Given the description of an element on the screen output the (x, y) to click on. 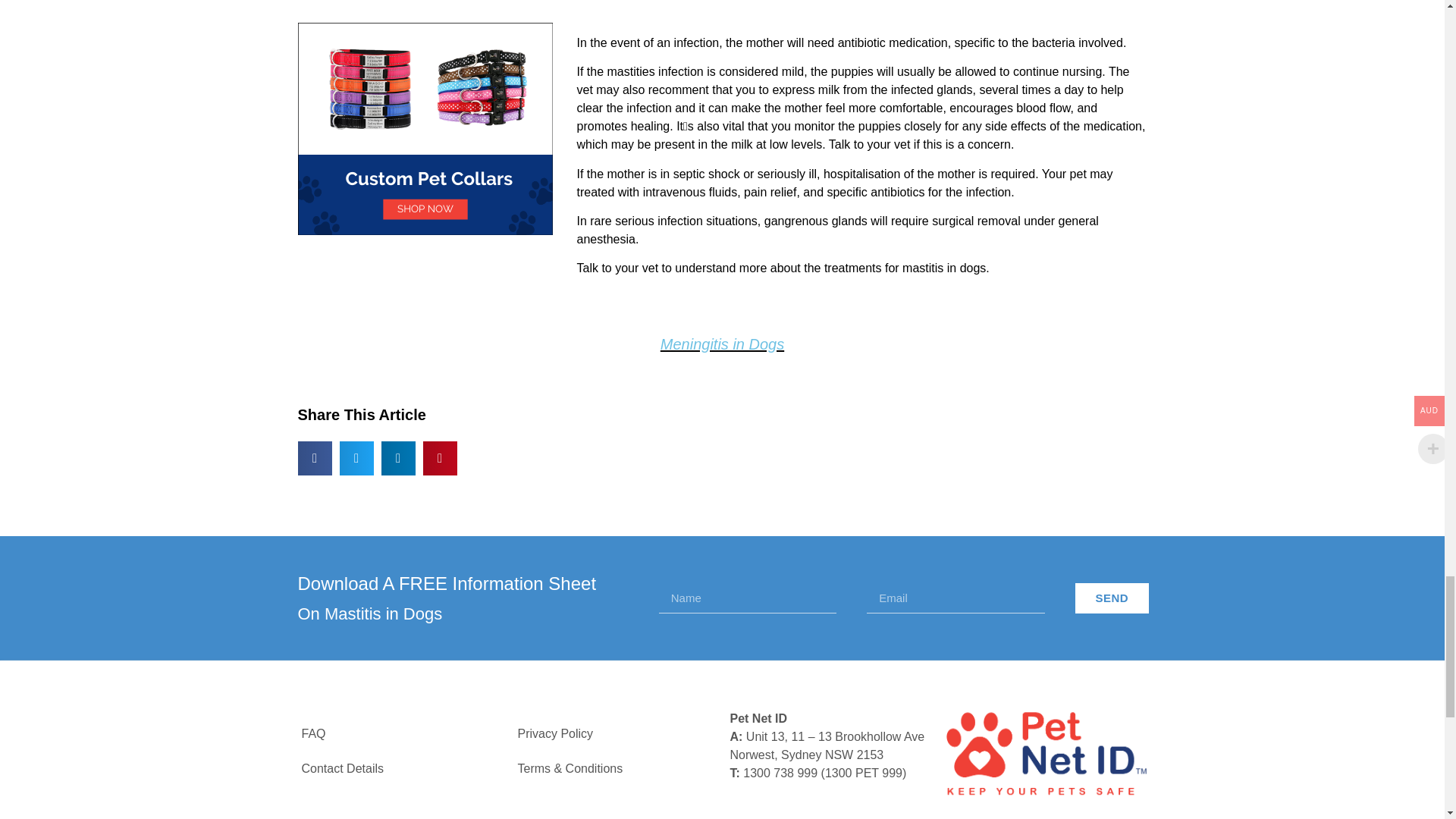
Meningitis in Dogs (722, 343)
